Given the description of an element on the screen output the (x, y) to click on. 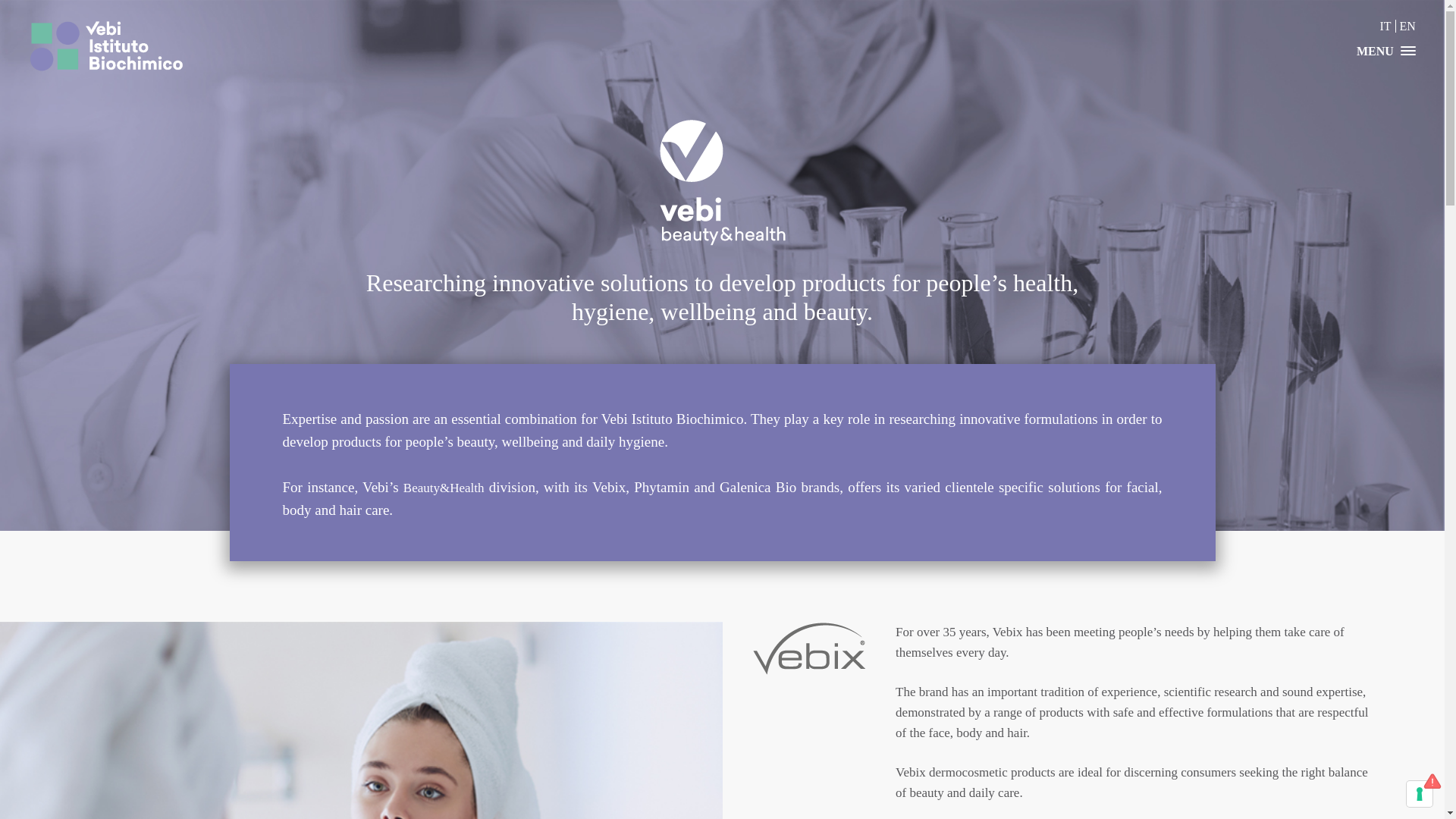
IT (1386, 25)
MENU (1380, 79)
EN (1407, 25)
